Given the description of an element on the screen output the (x, y) to click on. 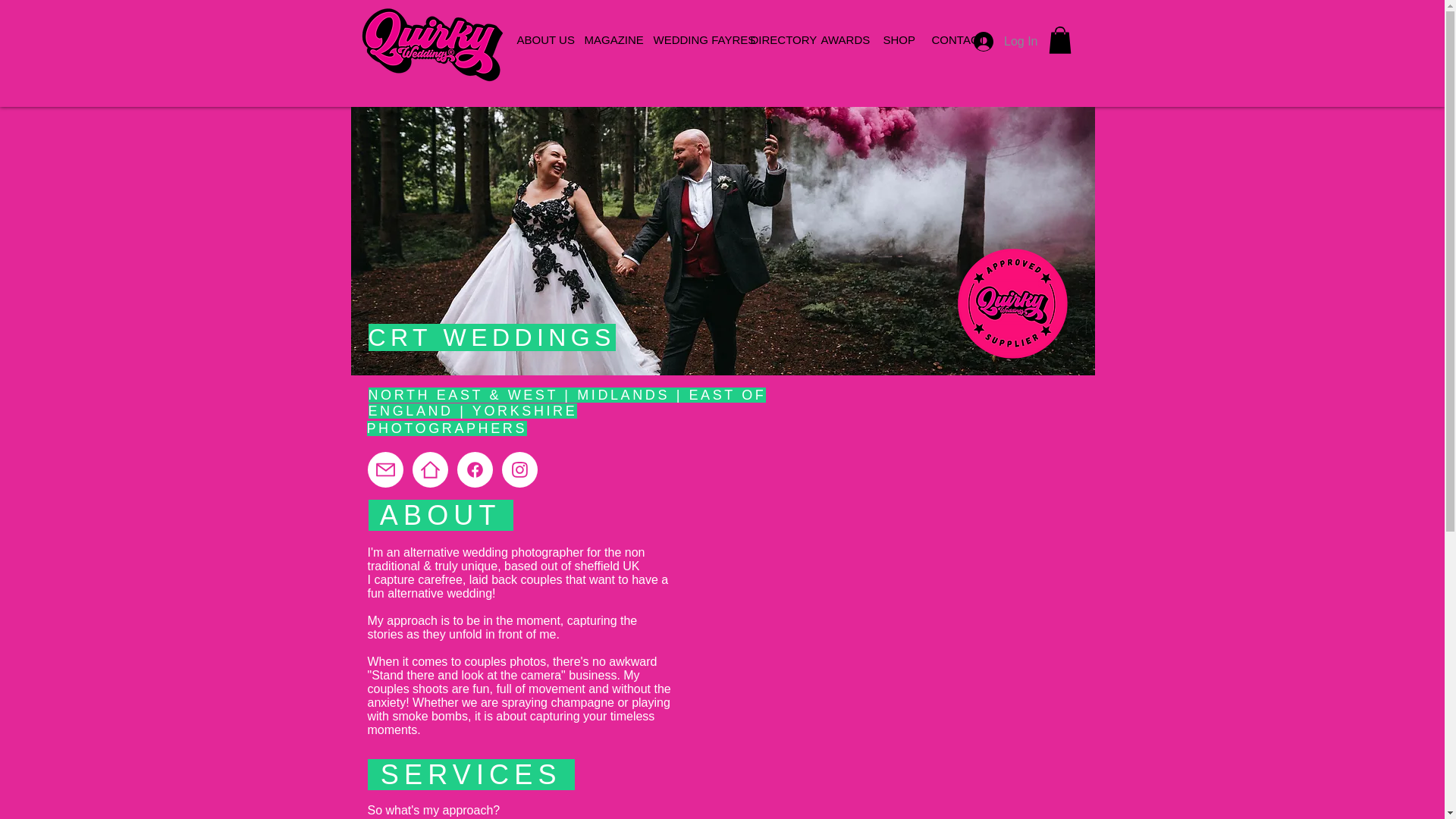
MAGAZINE (607, 39)
Log In (1005, 41)
CONTACT (952, 39)
AWARDS (840, 39)
ABOUT US (538, 39)
DIRECTORY (773, 39)
SHOP (896, 39)
WEDDING FAYRES (690, 39)
